Given the description of an element on the screen output the (x, y) to click on. 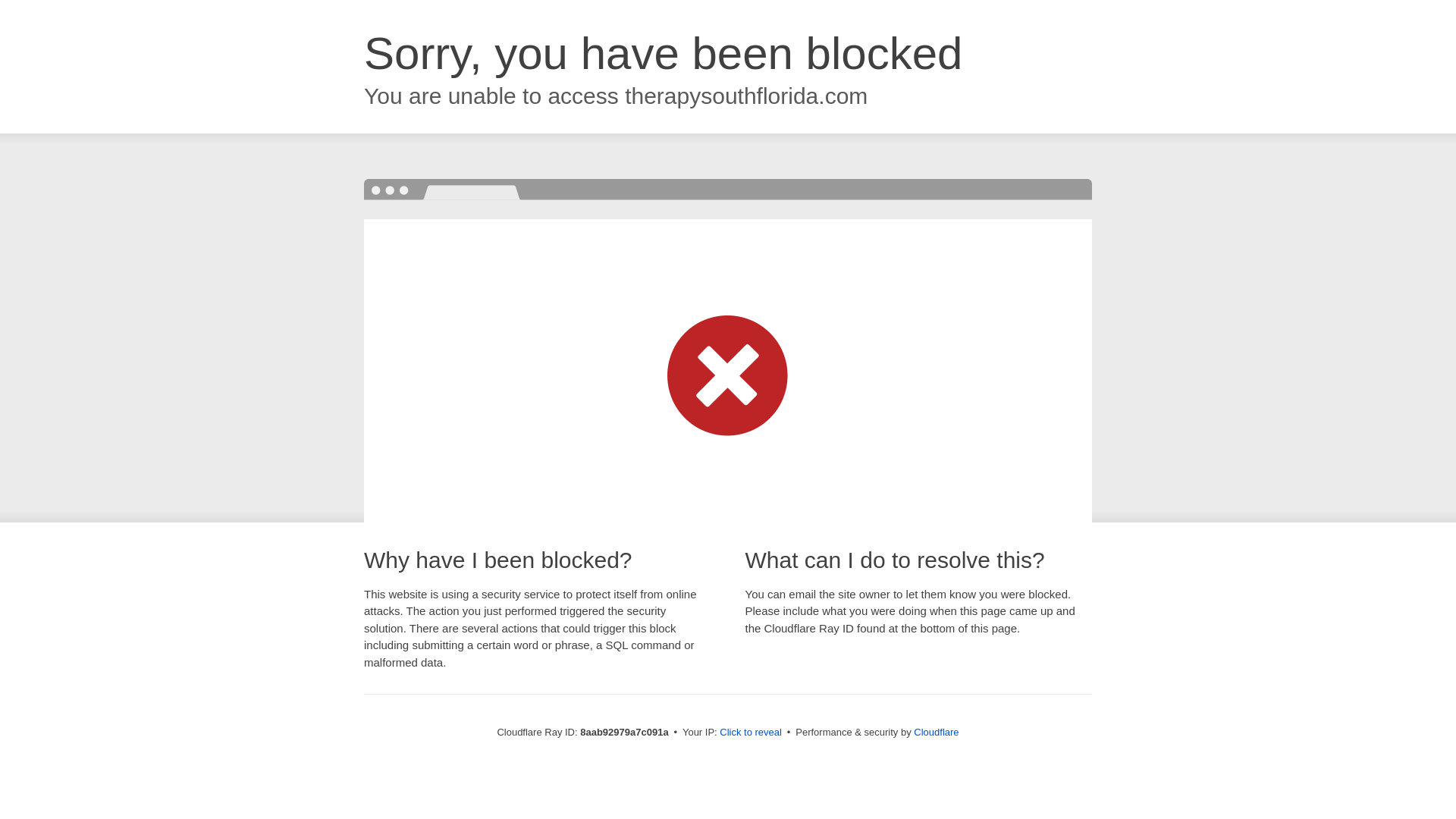
Cloudflare (936, 731)
Click to reveal (750, 732)
